Given the description of an element on the screen output the (x, y) to click on. 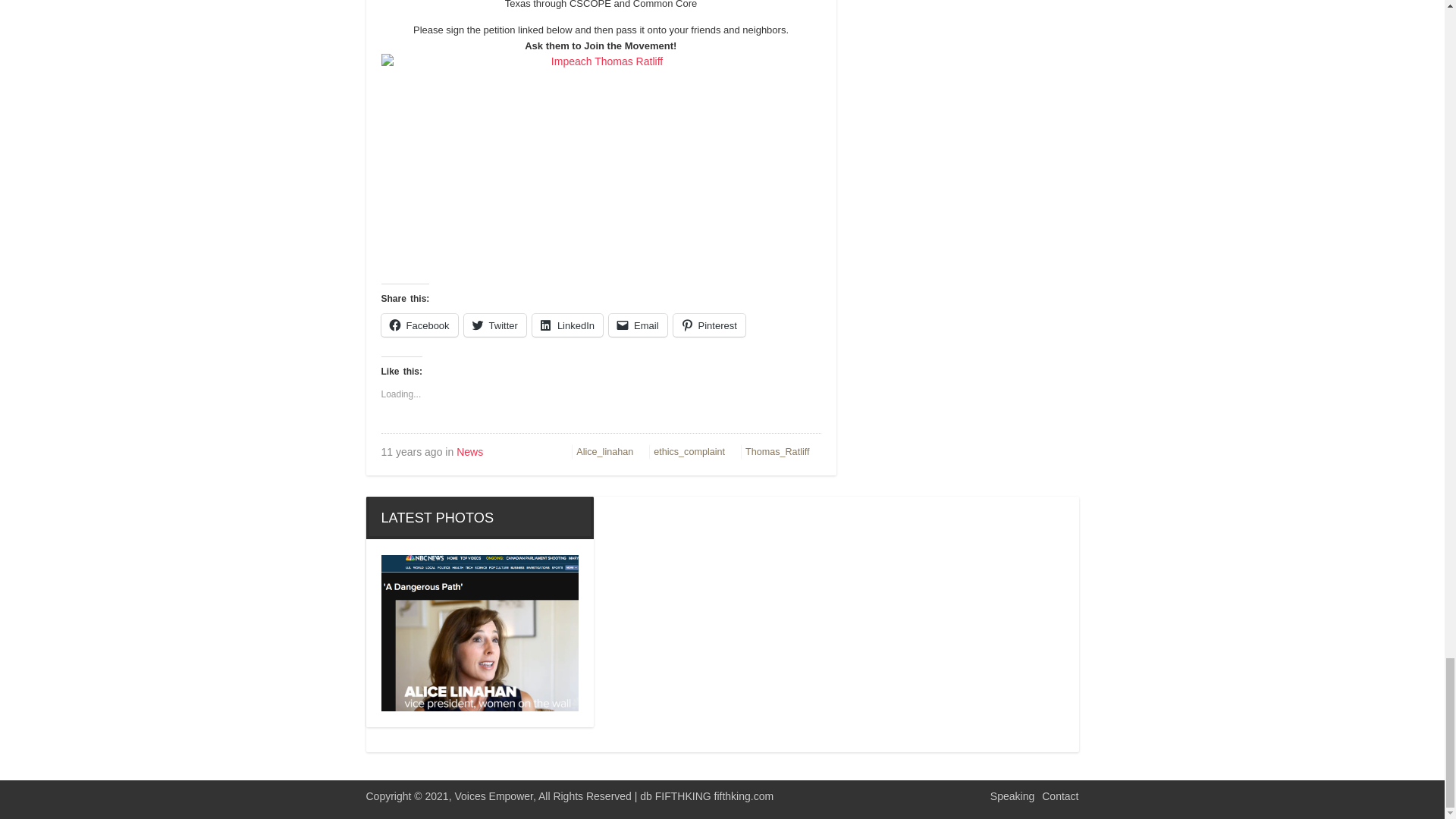
Twitter (494, 323)
LinkedIn (567, 323)
Click to share on Twitter (494, 323)
Click to share on Facebook (418, 323)
Facebook (418, 323)
